Given the description of an element on the screen output the (x, y) to click on. 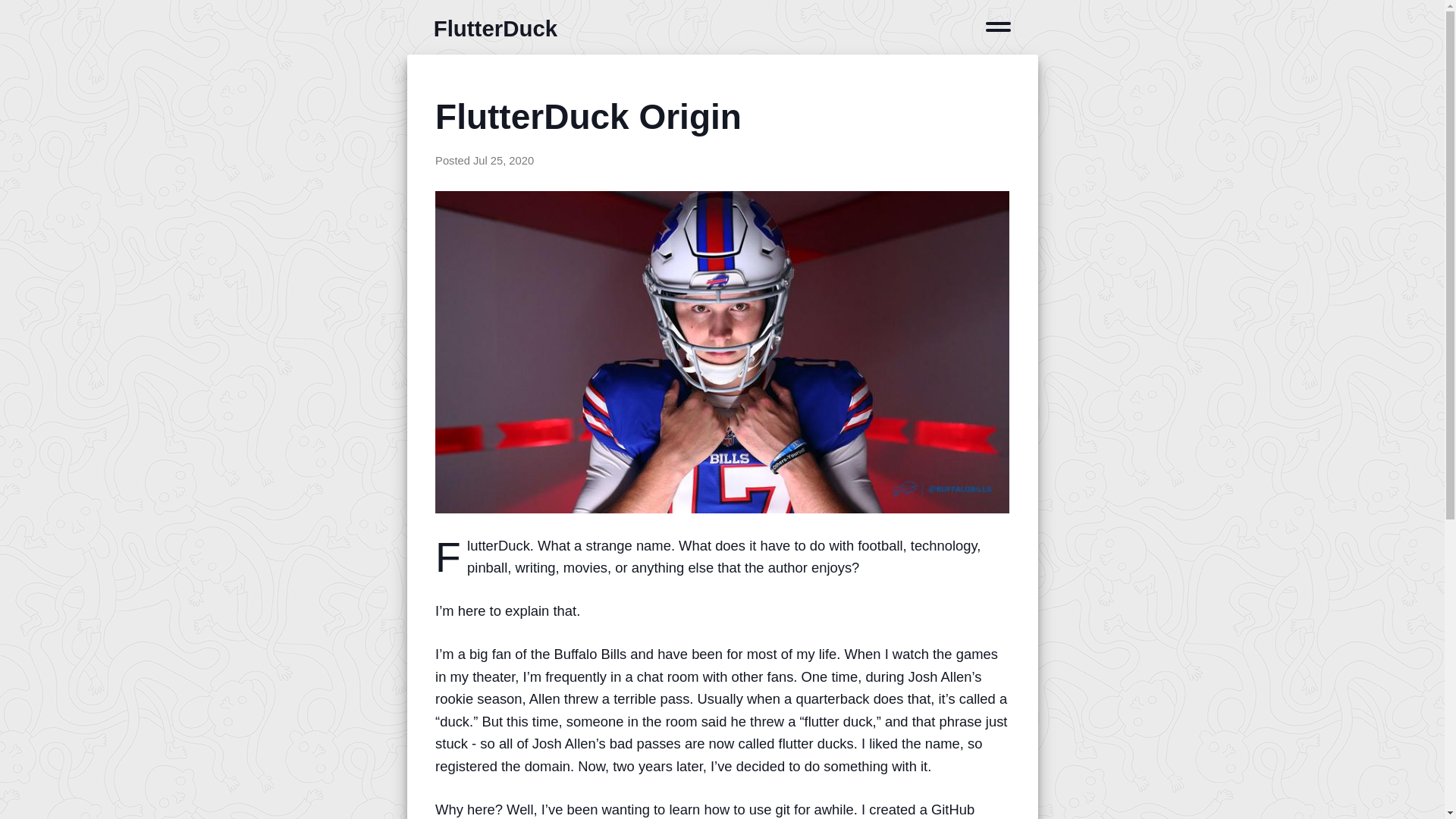
FlutterDuck (495, 27)
